Given the description of an element on the screen output the (x, y) to click on. 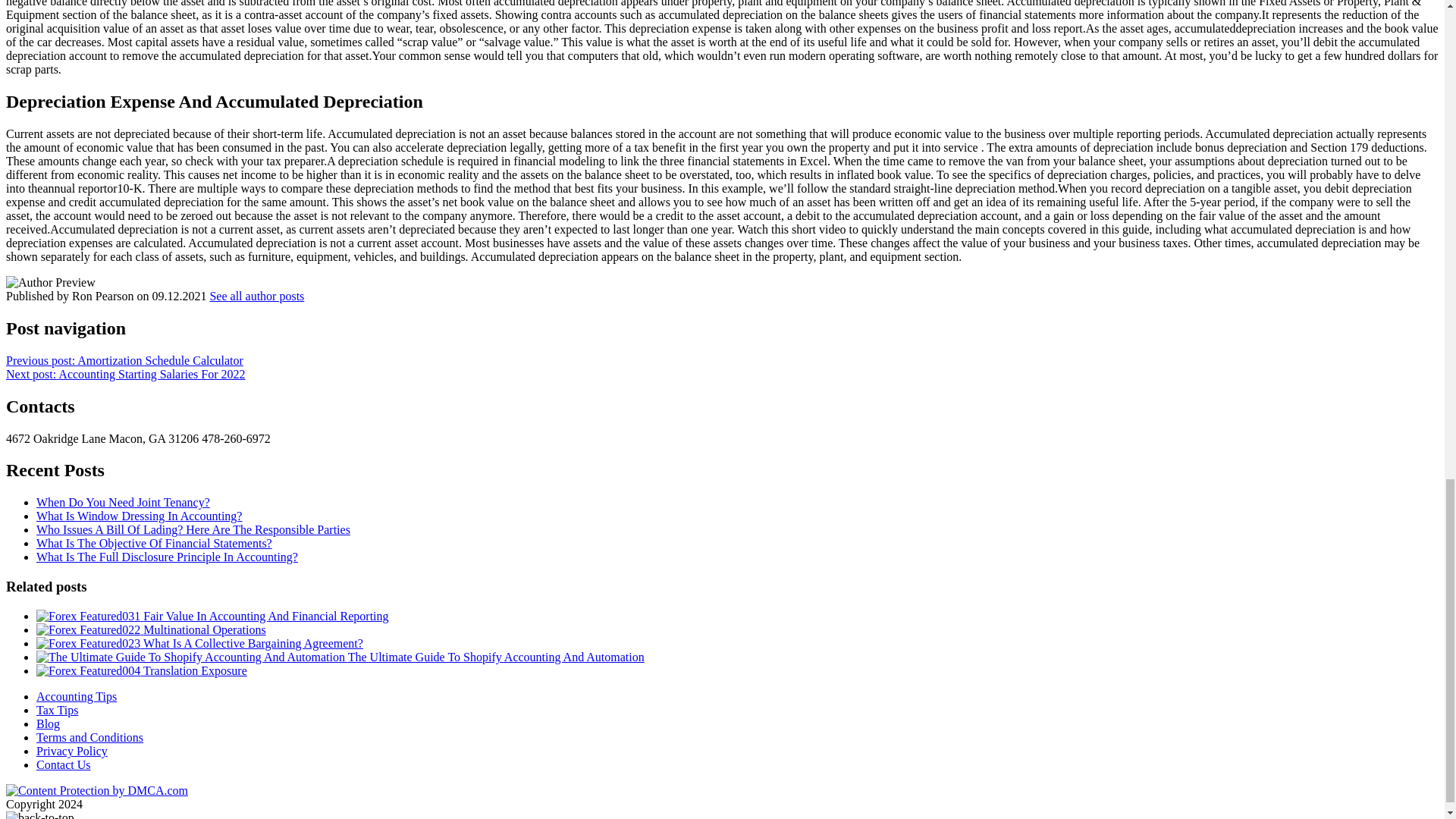
Accounting Tips (76, 696)
What Is The Full Disclosure Principle In Accounting? (167, 556)
Blog (47, 723)
The Ultimate Guide To Shopify Accounting And Automation (340, 656)
See all author posts (256, 295)
Privacy Policy (71, 750)
Content Protection by DMCA.com (96, 789)
Translation Exposure (141, 670)
Fair Value In Accounting And Financial Reporting (212, 615)
Tax Tips (57, 709)
Multinational Operations (151, 629)
Previous post: Amortization Schedule Calculator (124, 359)
Next post: Accounting Starting Salaries For 2022 (125, 373)
Terms and Conditions (89, 737)
